Given the description of an element on the screen output the (x, y) to click on. 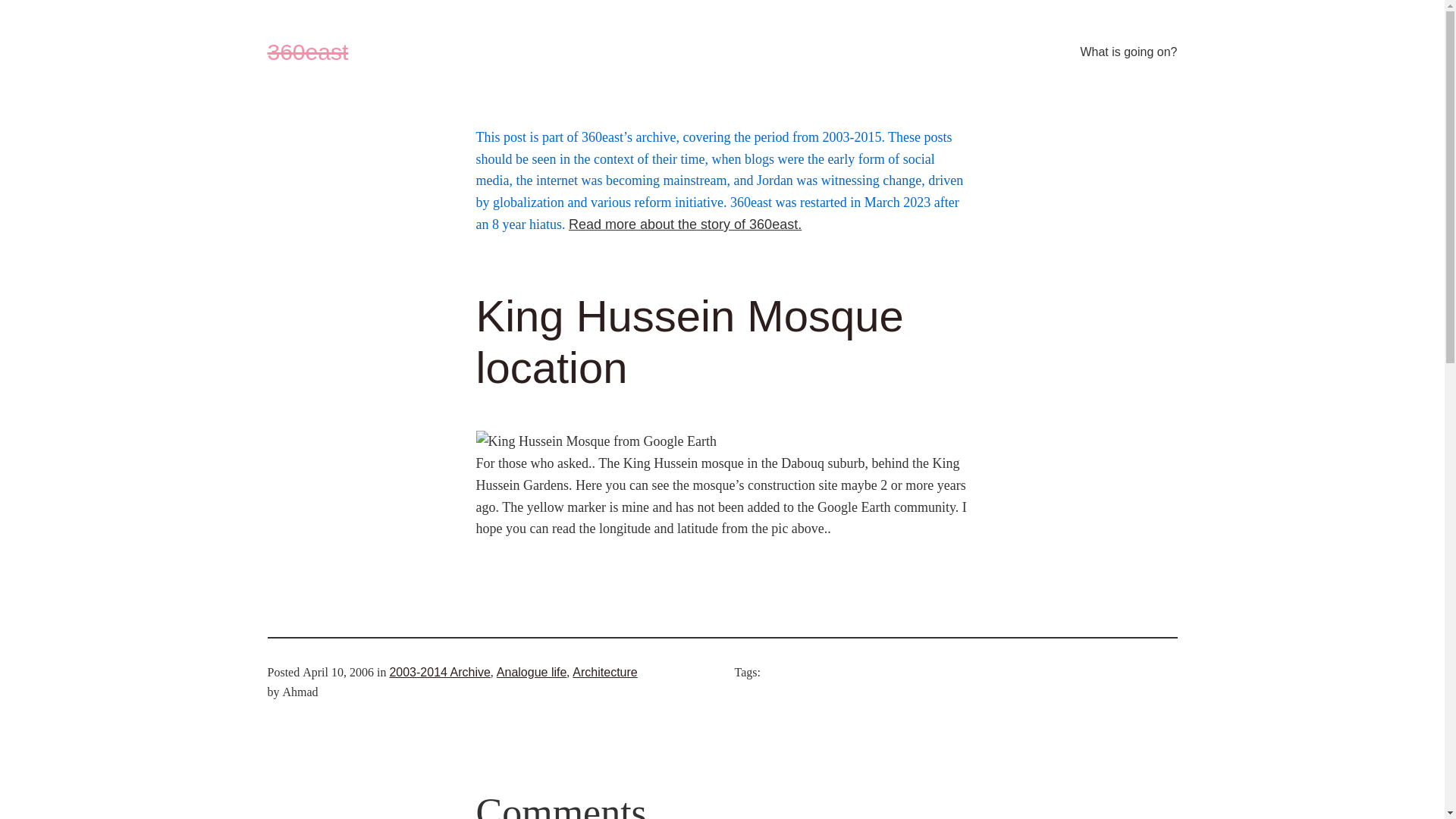
360east Element type: text (307, 51)
Architecture Element type: text (604, 671)
Read more about the story of 360east. Element type: text (684, 224)
What is going on? Element type: text (1127, 52)
King Hussein Mosque from Google Earth Element type: hover (596, 441)
Analogue life Element type: text (531, 671)
2003-2014 Archive Element type: text (439, 671)
King Hussein Mosque location Element type: text (722, 341)
